Given the description of an element on the screen output the (x, y) to click on. 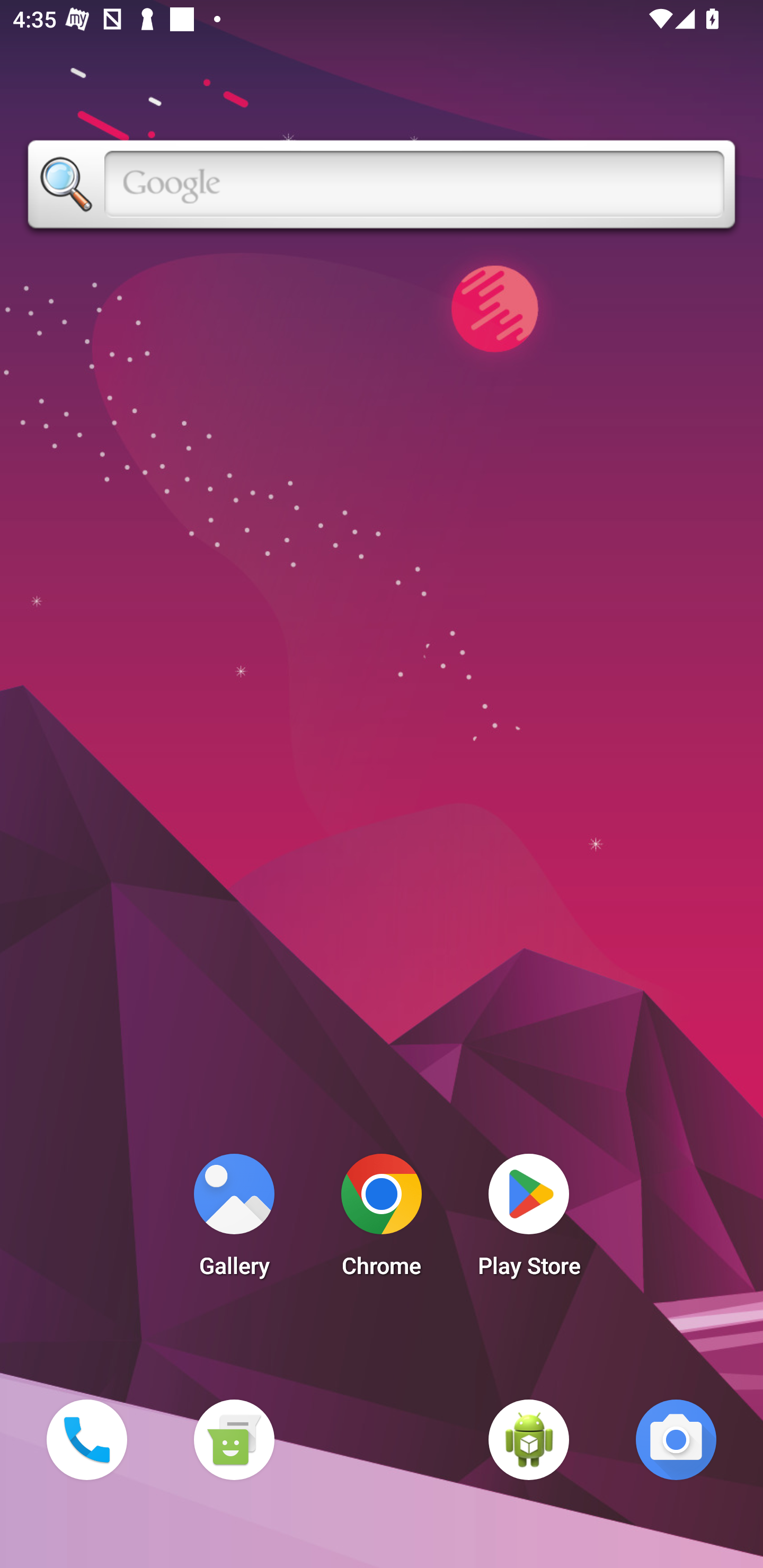
Gallery (233, 1220)
Chrome (381, 1220)
Play Store (528, 1220)
Phone (86, 1439)
Messaging (233, 1439)
WebView Browser Tester (528, 1439)
Camera (676, 1439)
